Given the description of an element on the screen output the (x, y) to click on. 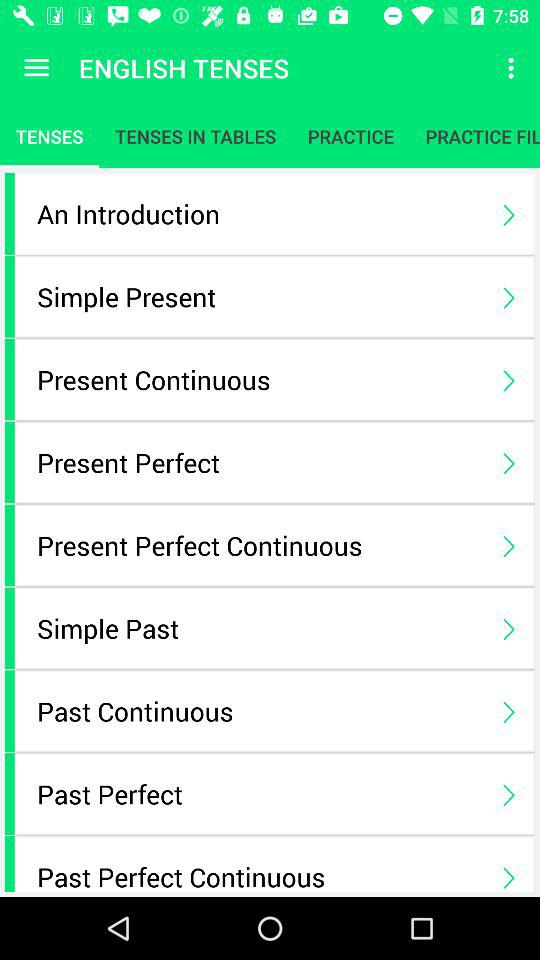
open item above the tenses icon (36, 68)
